Given the description of an element on the screen output the (x, y) to click on. 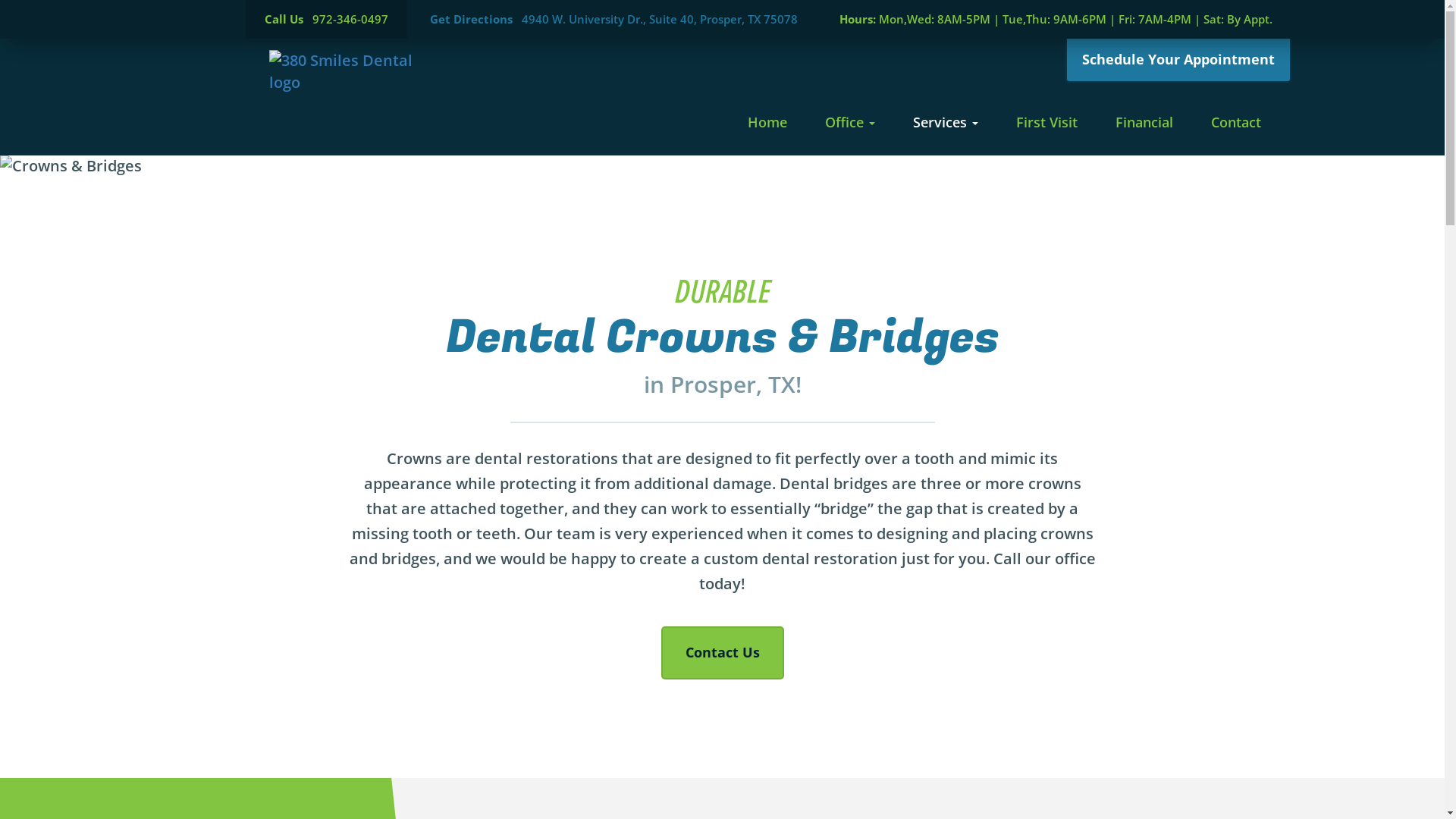
Home Element type: text (766, 122)
Contact Element type: text (1235, 122)
Financial Element type: text (1143, 122)
First Visit Element type: text (1045, 122)
Contact Us Element type: text (722, 652)
Services Element type: text (944, 122)
Office Element type: text (849, 122)
Call Us 972-346-0497 Element type: text (326, 19)
Schedule Your Appointment Element type: text (1177, 60)
